Given the description of an element on the screen output the (x, y) to click on. 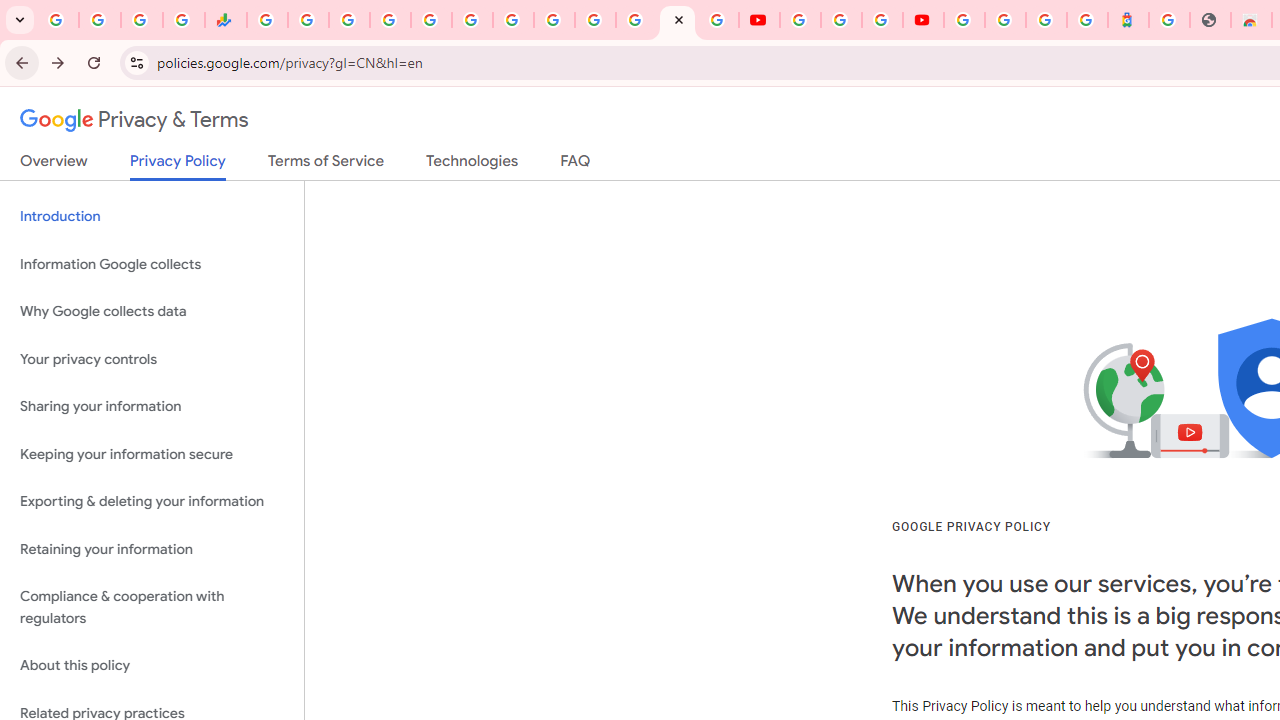
Retaining your information (152, 548)
Terms of Service (326, 165)
Exporting & deleting your information (152, 502)
YouTube (553, 20)
Privacy & Terms (134, 120)
Sharing your information (152, 407)
Sign in - Google Accounts (594, 20)
